Given the description of an element on the screen output the (x, y) to click on. 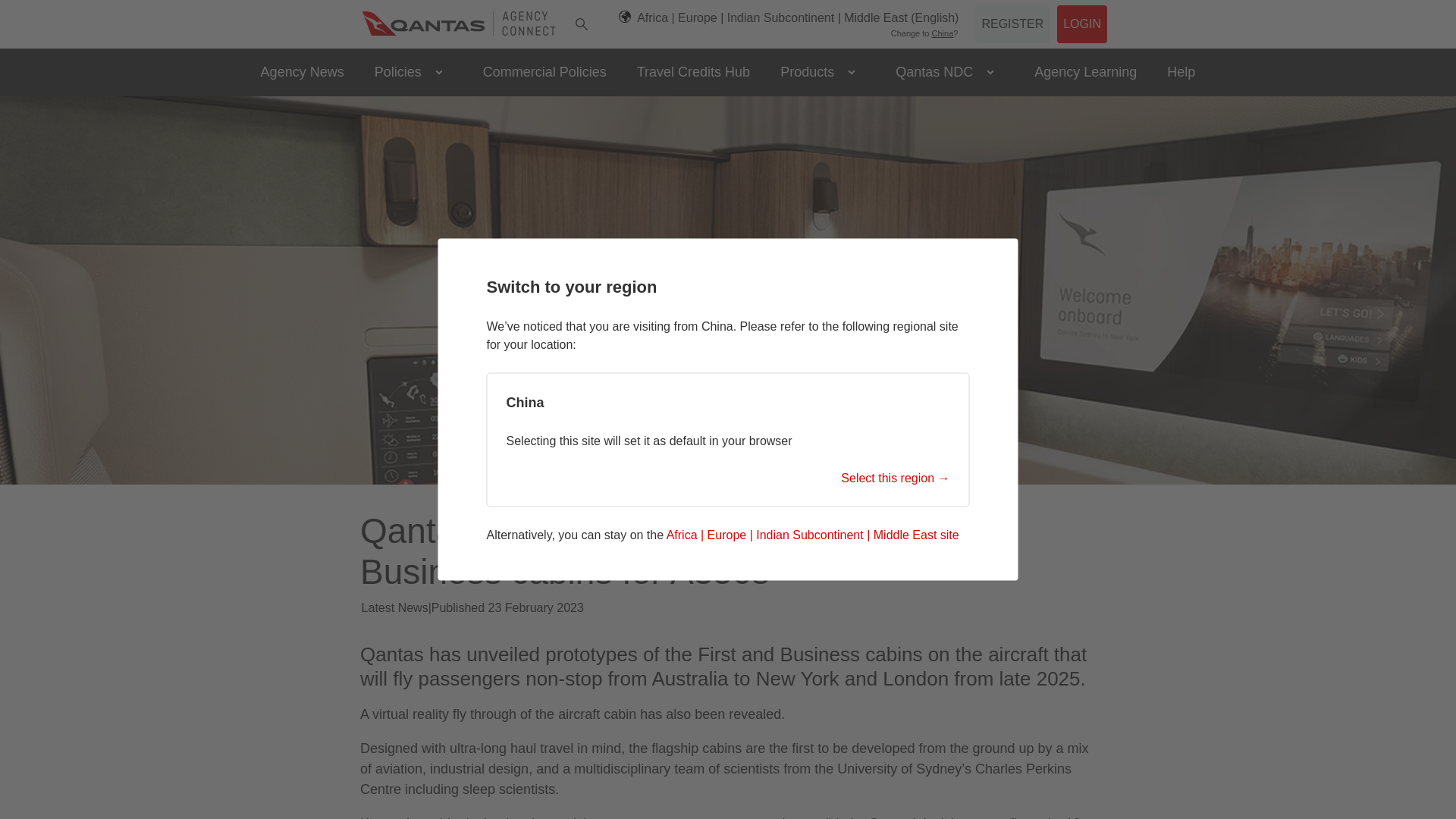
Arrow (851, 72)
Arrow (989, 72)
Arrow (438, 72)
China (942, 32)
LOGIN (1081, 27)
REGISTER (1012, 27)
